Given the description of an element on the screen output the (x, y) to click on. 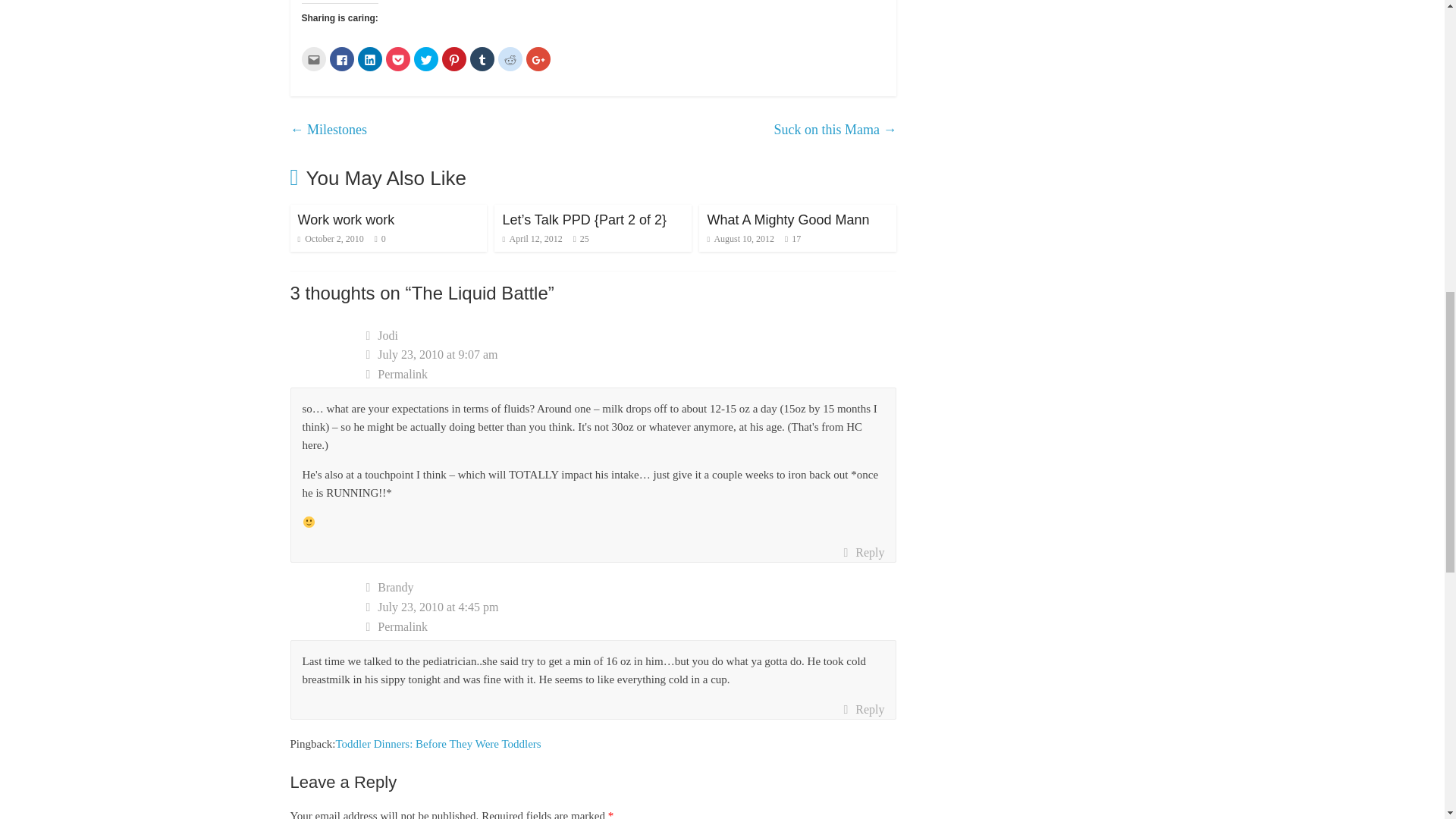
Click to email this to a friend (313, 58)
Click to share on LinkedIn (369, 58)
Click to share on Facebook (341, 58)
October 2, 2010 (329, 238)
Click to share on Pinterest (453, 58)
Click to share on Tumblr (482, 58)
Click to share on Pocket (397, 58)
Click to share on Reddit (509, 58)
Click to share on Twitter (425, 58)
Work work work (345, 219)
5:15 am (329, 238)
Work work work (345, 219)
